Given the description of an element on the screen output the (x, y) to click on. 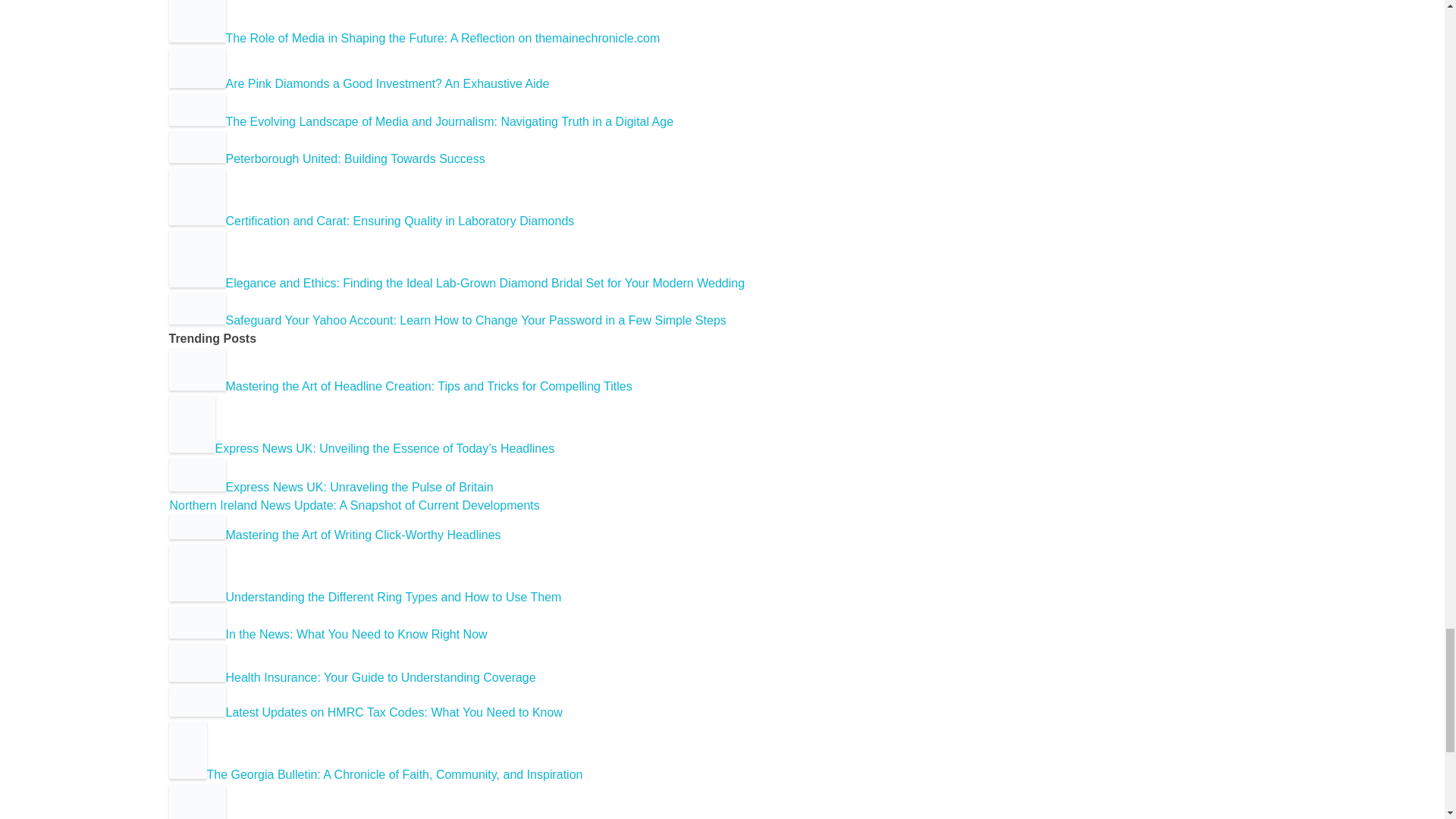
Are Pink Diamonds a Good Investment? An Exhaustive Aide (358, 83)
are pink diamonds a good investment (196, 67)
